Given the description of an element on the screen output the (x, y) to click on. 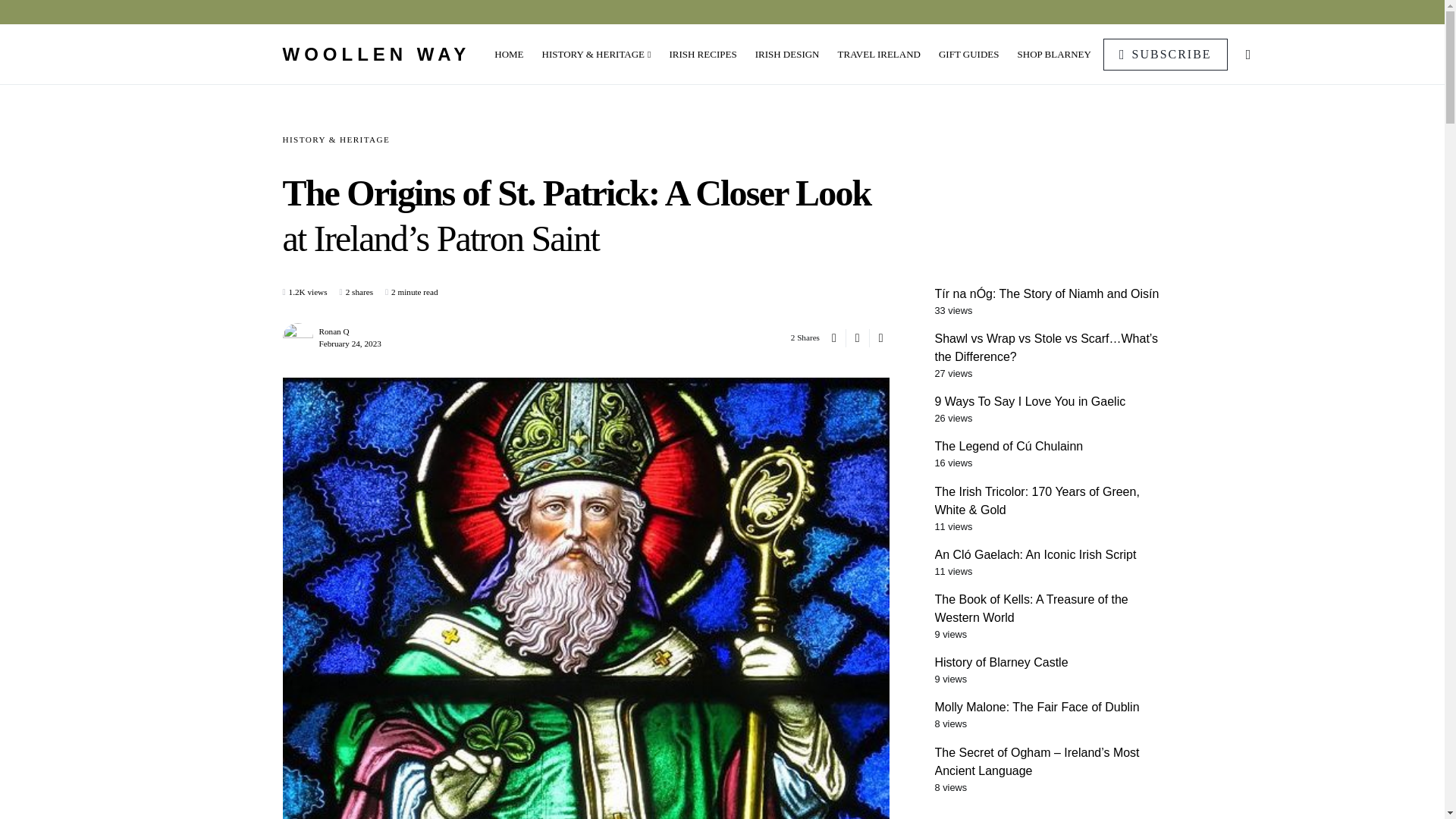
GIFT GUIDES (969, 54)
SHOP BLARNEY (1049, 54)
IRISH RECIPES (702, 54)
SUBSCRIBE (1165, 53)
IRISH DESIGN (786, 54)
TRAVEL IRELAND (879, 54)
Ronan Q (333, 330)
WOOLLEN WAY (376, 54)
